Given the description of an element on the screen output the (x, y) to click on. 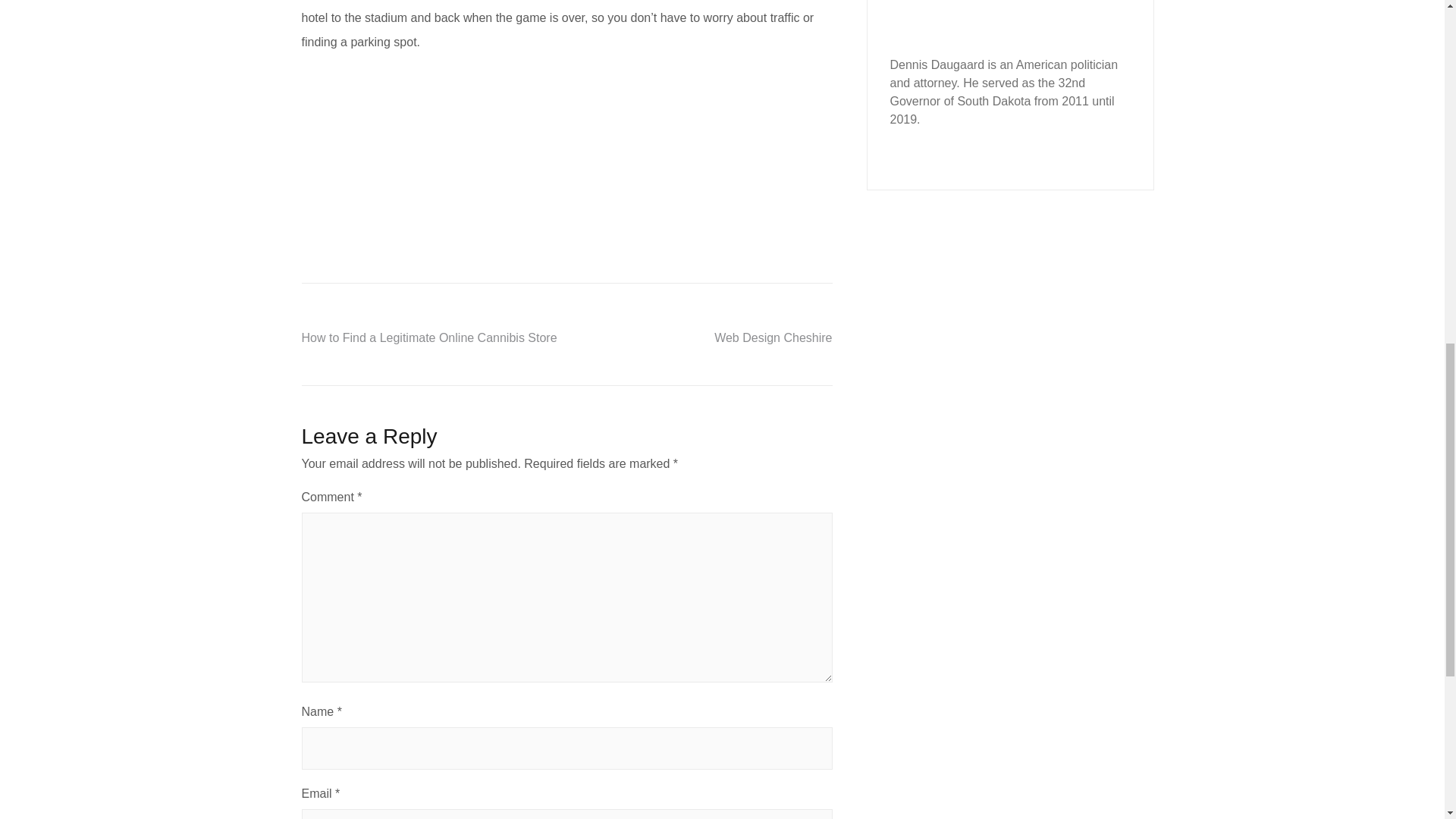
Web Design Cheshire (772, 337)
How to Find a Legitimate Online Cannibis Store (429, 337)
